Given the description of an element on the screen output the (x, y) to click on. 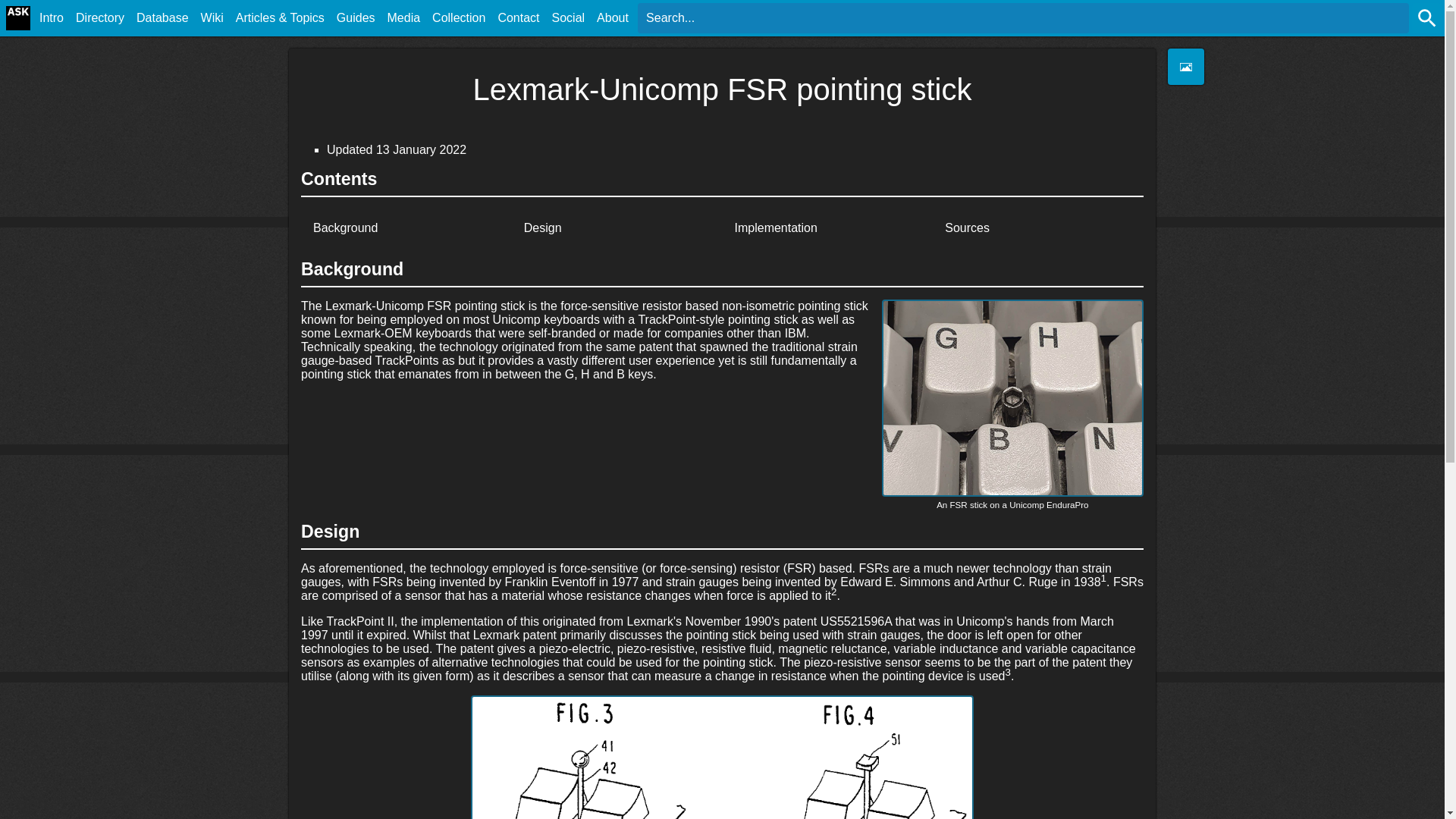
Intro (51, 18)
Wiki (212, 18)
Directory (100, 20)
Guides (355, 20)
Media (403, 18)
Database (163, 18)
